Given the description of an element on the screen output the (x, y) to click on. 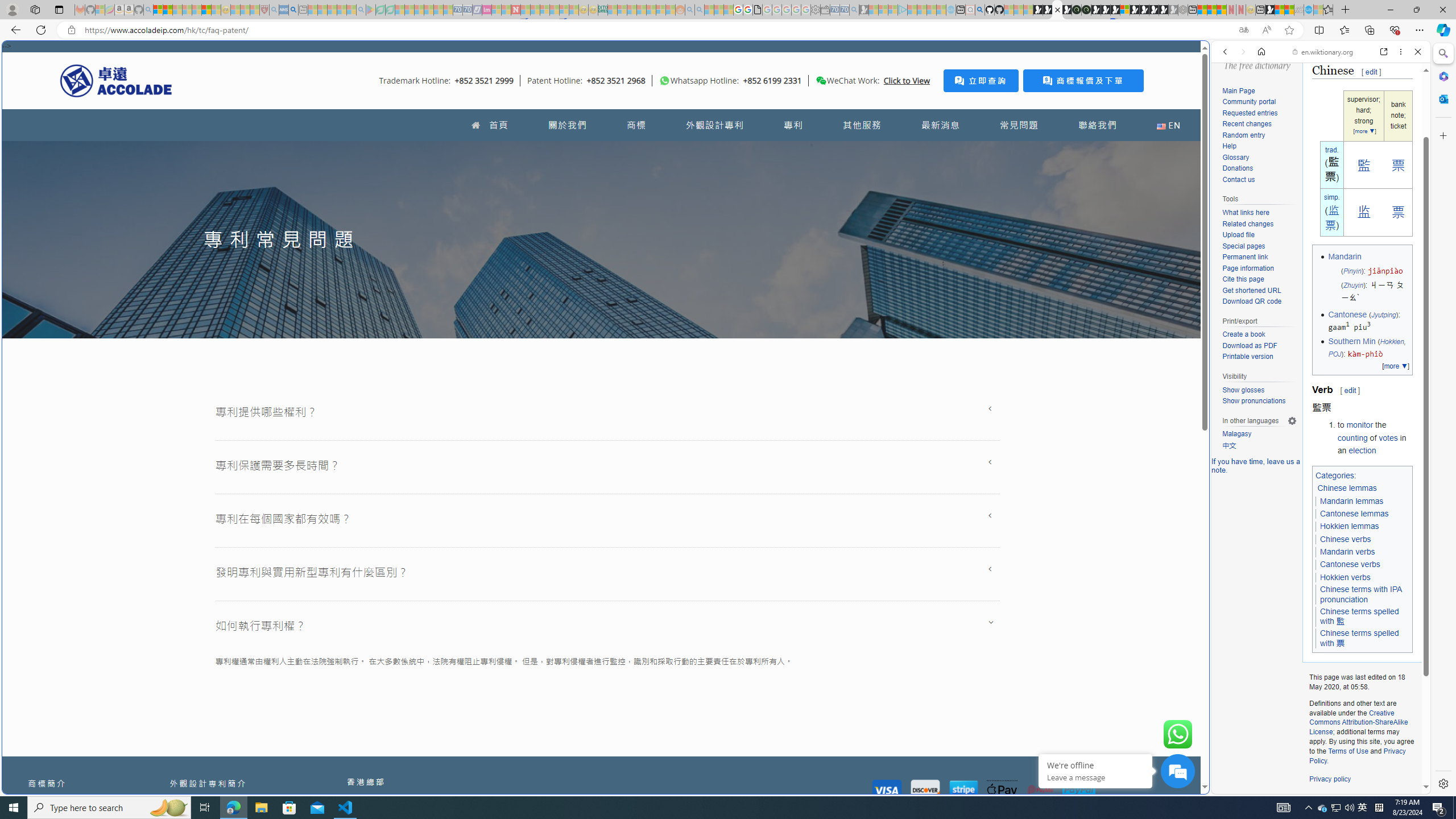
Glossary (1235, 157)
Language settings (1292, 420)
Latest Politics News & Archive | Newsweek.com - Sleeping (515, 9)
What links here (1245, 212)
The Weather Channel - MSN - Sleeping (177, 9)
Close Customize pane (1442, 135)
